Given the description of an element on the screen output the (x, y) to click on. 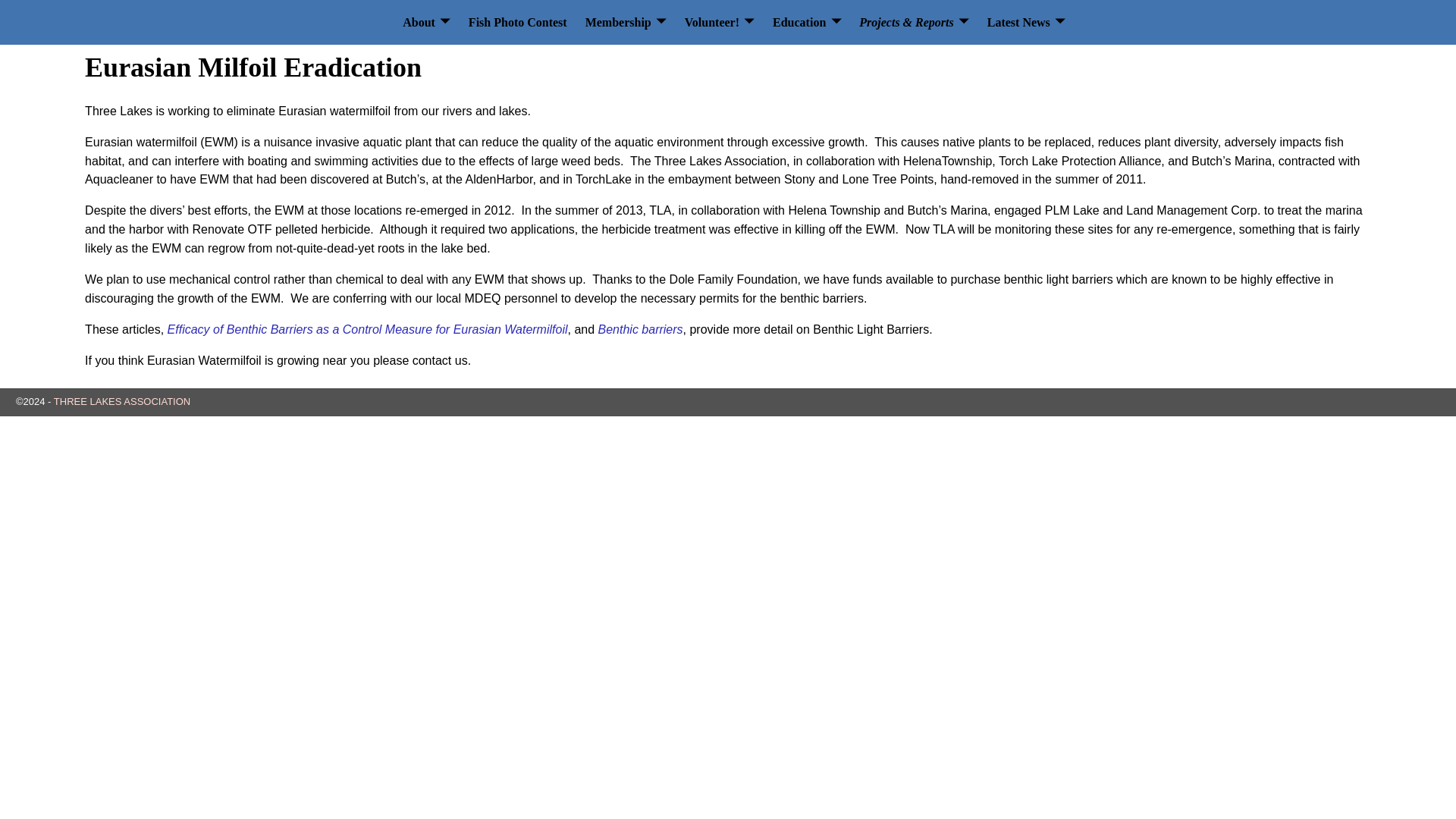
Education (806, 22)
About (426, 22)
Membership (625, 22)
Fish Photo Contest (518, 22)
Volunteer! (718, 22)
